Given the description of an element on the screen output the (x, y) to click on. 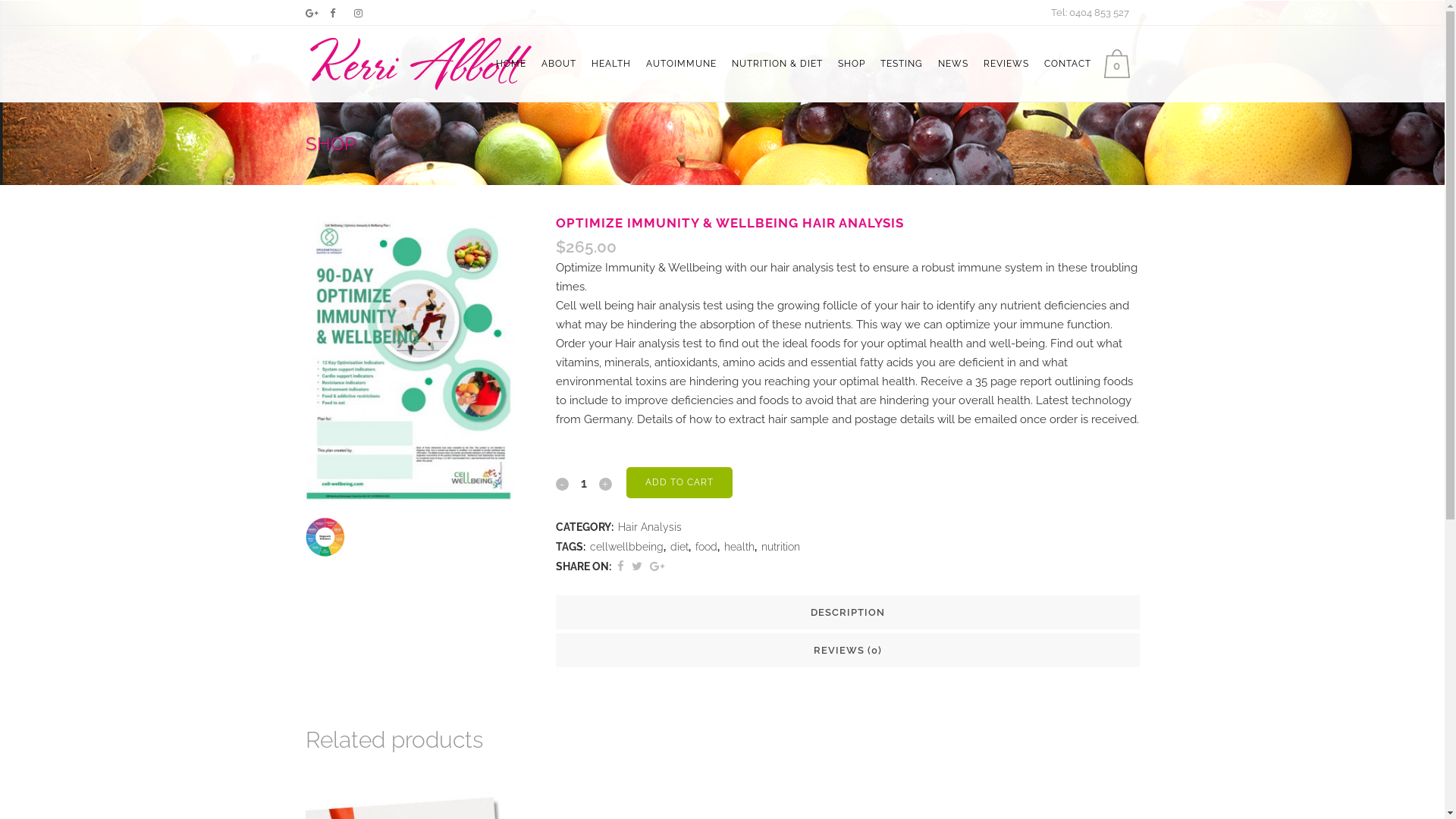
HEALTH Element type: text (610, 63)
REVIEWS Element type: text (1005, 63)
kerriabbottnaturopathepigenics Element type: hover (324, 537)
TESTING Element type: text (900, 63)
Qty Element type: hover (583, 482)
Hair Analysis Element type: text (648, 526)
AUTOIMMUNE Element type: text (681, 63)
NEWS Element type: text (952, 63)
nutrition Element type: text (780, 546)
food Element type: text (705, 546)
CONTACT Element type: text (1066, 63)
ABOUT Element type: text (558, 63)
diet Element type: text (679, 546)
Share on Twitter Element type: hover (635, 566)
health Element type: text (738, 546)
cellwellbbeing Element type: text (626, 546)
NUTRITION & DIET Element type: text (776, 63)
HOME Element type: text (510, 63)
IMG_0471 Element type: hover (408, 358)
Share on Facebook Element type: hover (620, 566)
0 Element type: text (1120, 63)
Share on Google+ Element type: hover (656, 566)
SHOP Element type: text (850, 63)
ADD TO CART Element type: text (679, 482)
